Given the description of an element on the screen output the (x, y) to click on. 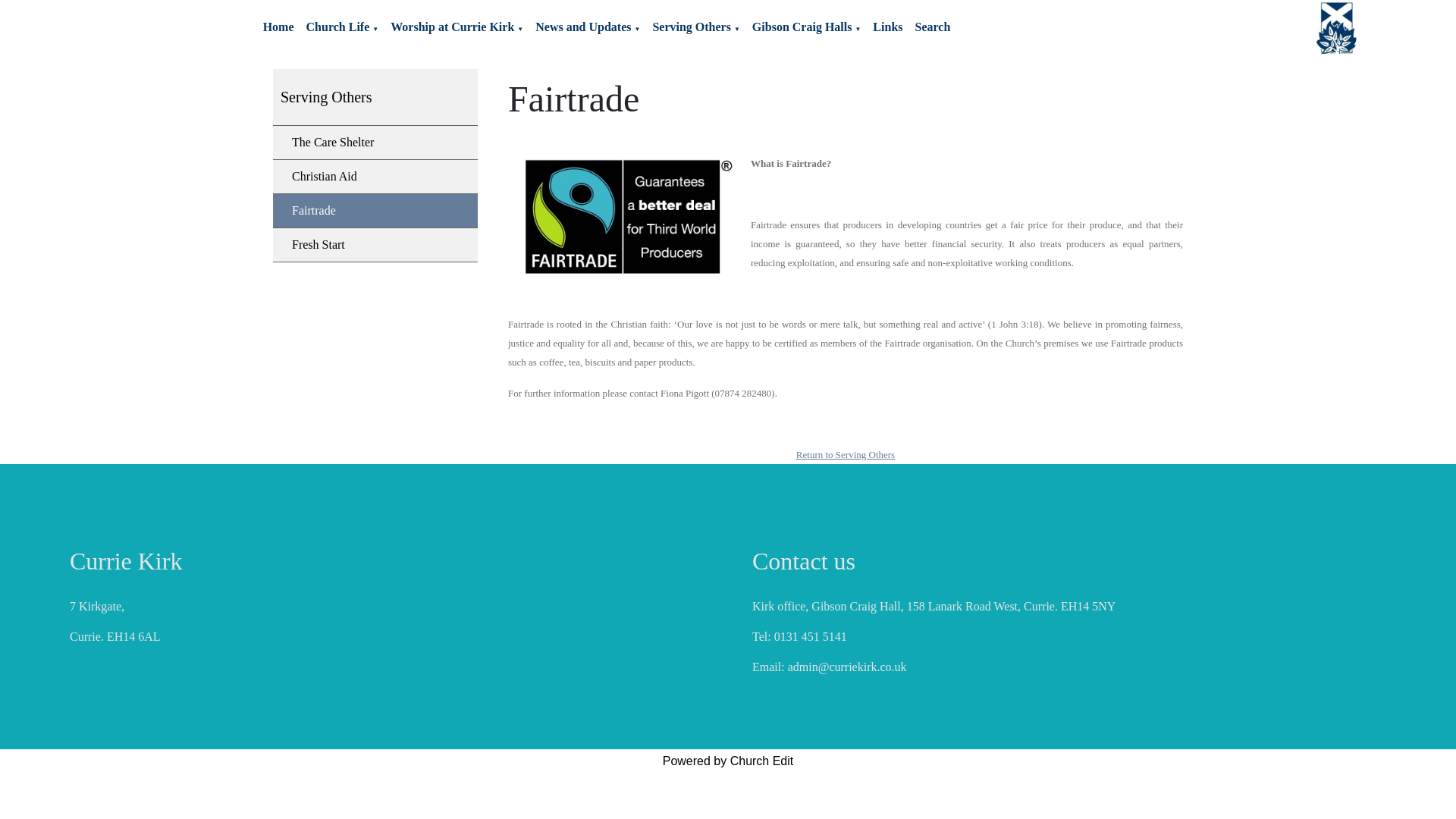
Church Life (337, 26)
Home (278, 26)
